Given the description of an element on the screen output the (x, y) to click on. 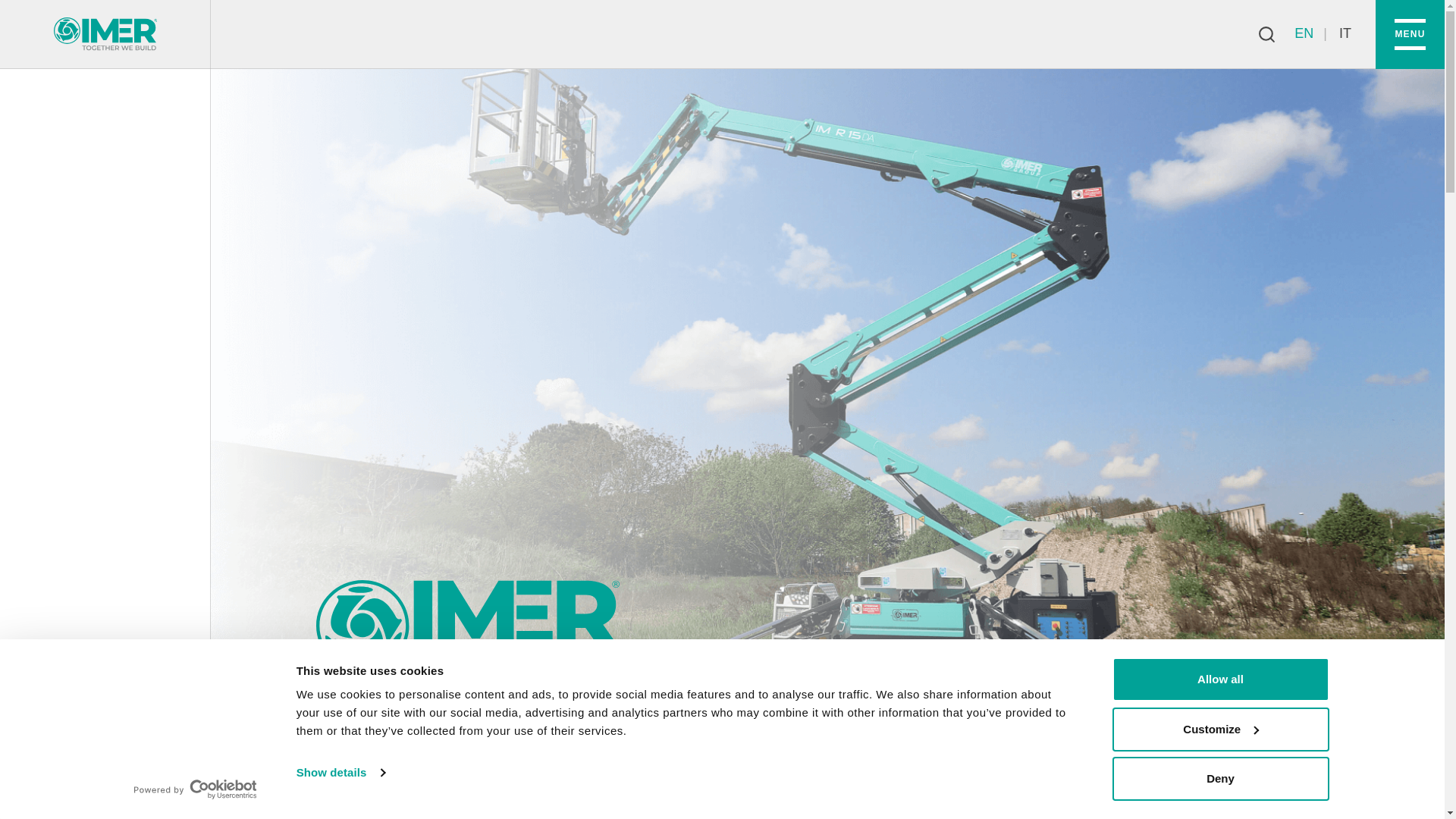
Show details (340, 772)
Allow all (1219, 679)
Customize (1219, 728)
Deny (1219, 778)
